Given the description of an element on the screen output the (x, y) to click on. 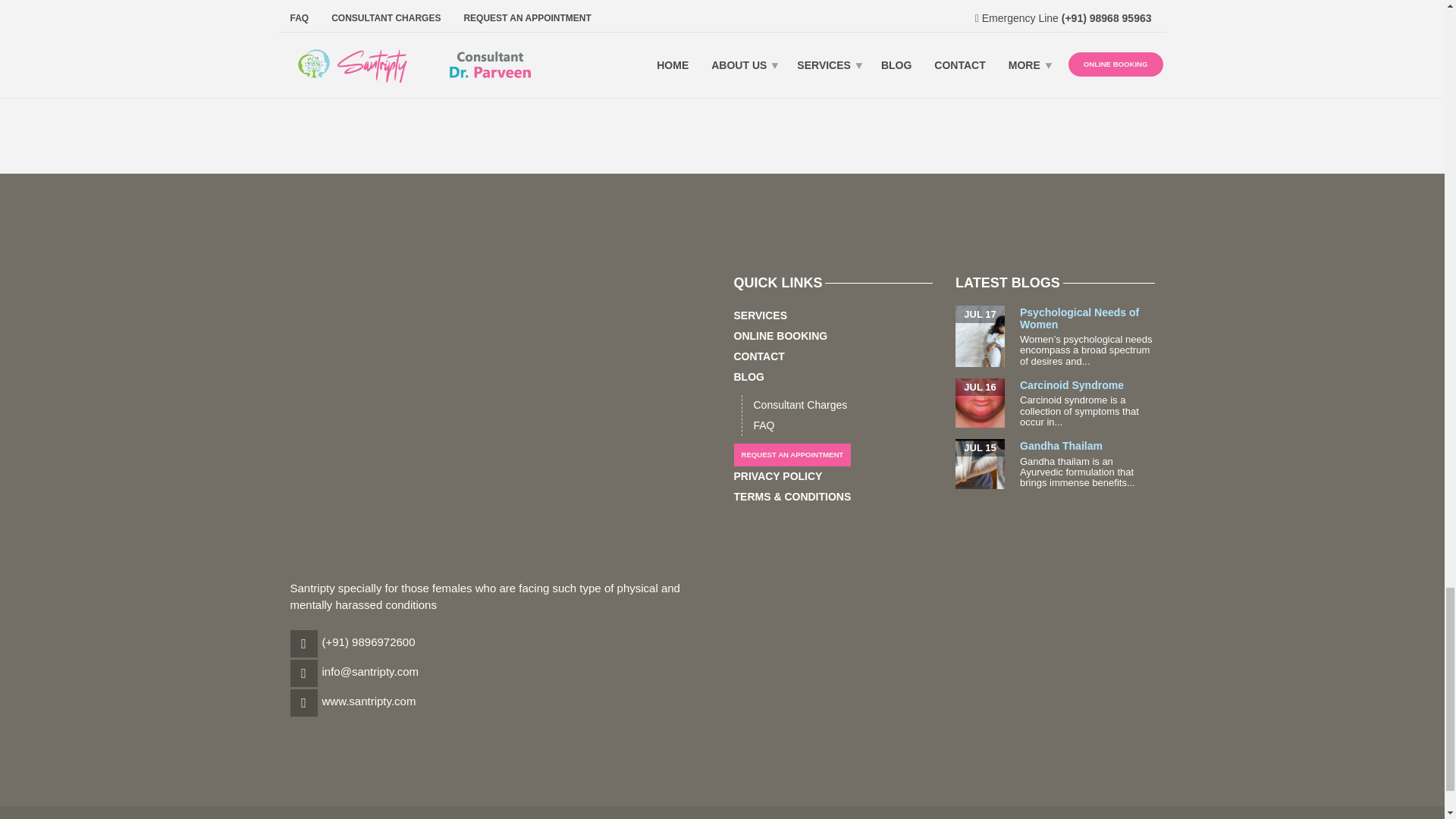
logged in (379, 42)
